Given the description of an element on the screen output the (x, y) to click on. 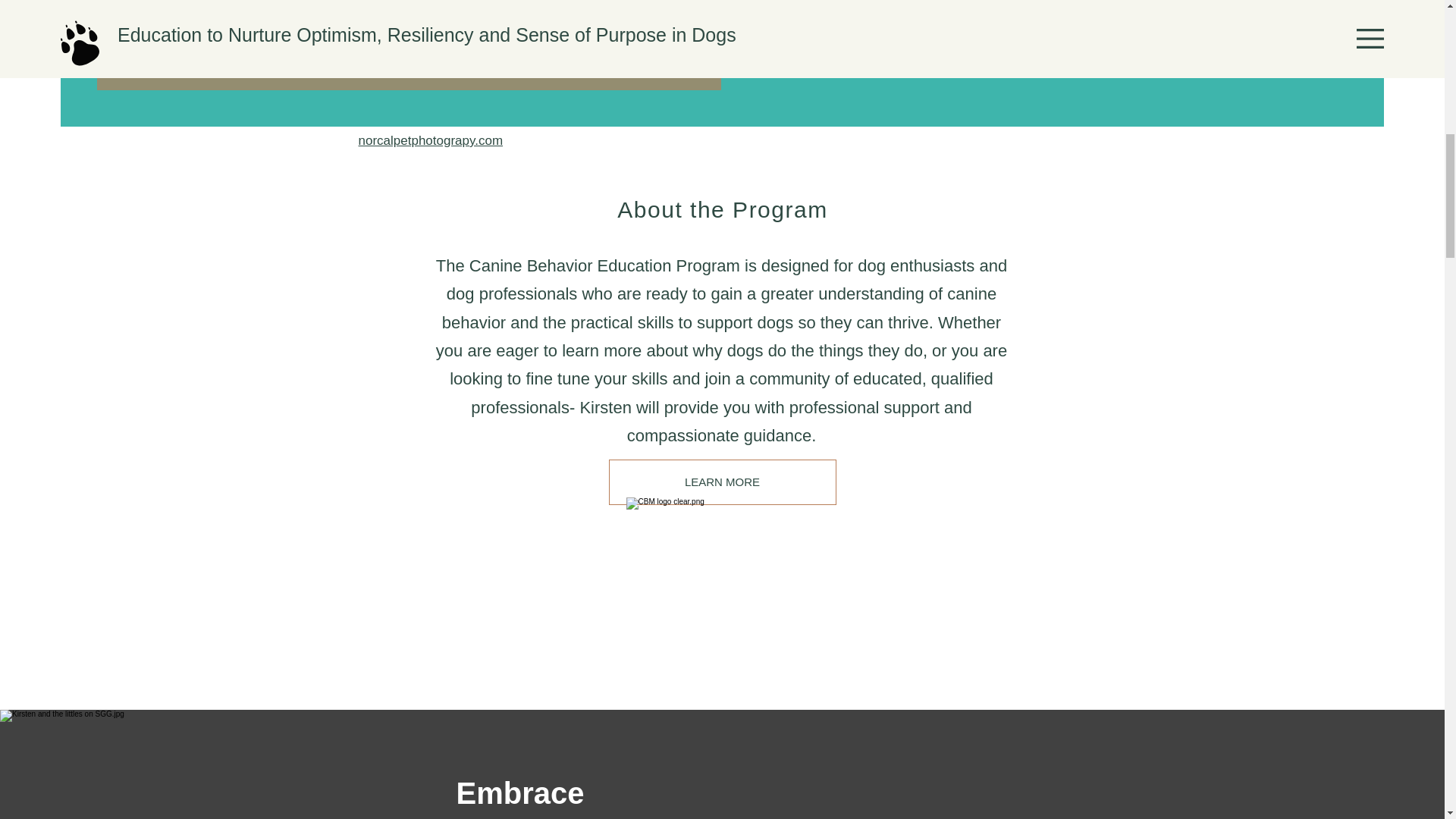
LEARN MORE (721, 482)
Contact Me (1062, 33)
norcalpetphotograpy.com (430, 140)
